Given the description of an element on the screen output the (x, y) to click on. 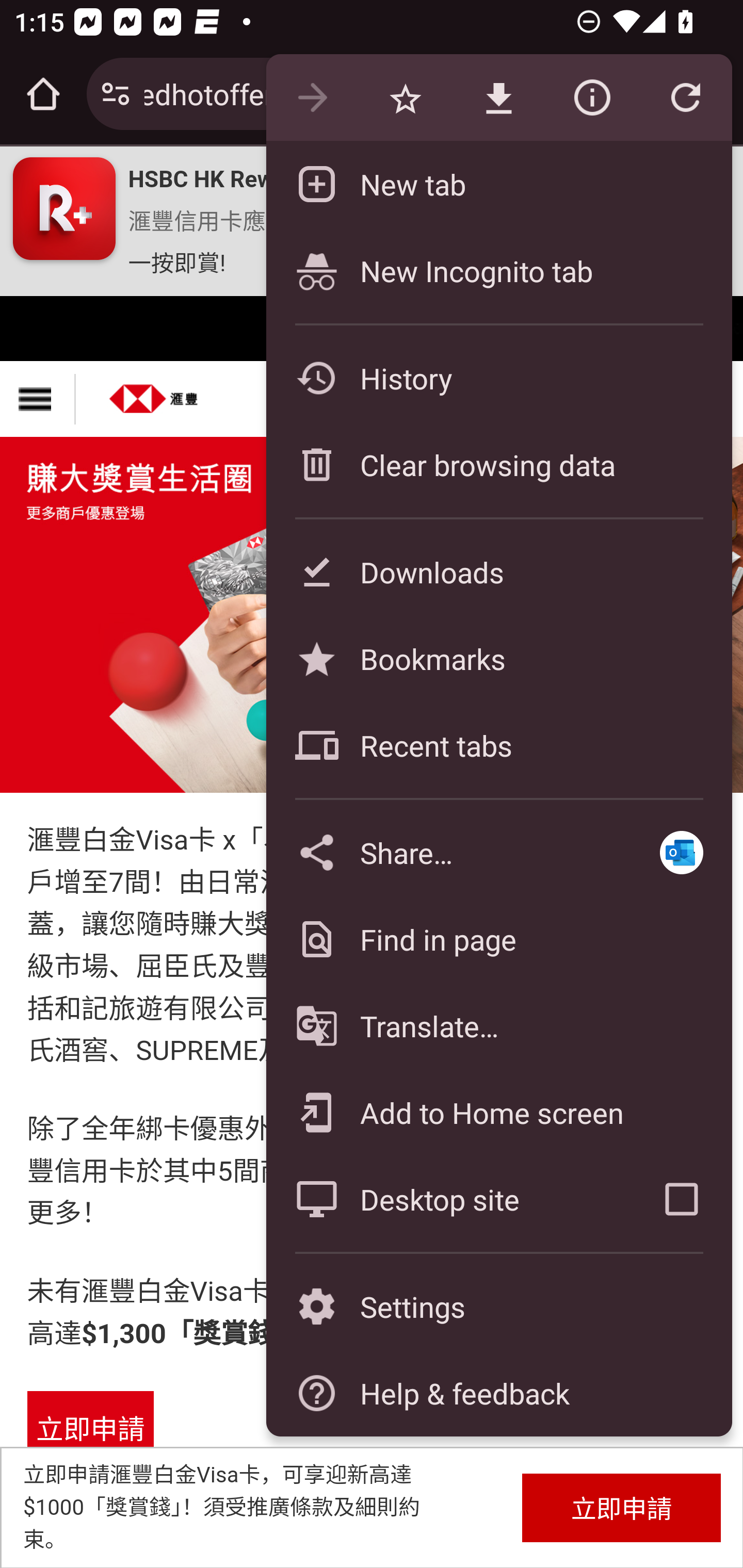
Forward (311, 97)
Bookmark (404, 97)
Download (498, 97)
Page info (591, 97)
Refresh (684, 97)
New tab (498, 184)
New Incognito tab (498, 270)
History (498, 377)
Clear browsing data (498, 464)
Downloads (498, 571)
Bookmarks (498, 658)
Recent tabs (498, 745)
Share… (447, 852)
Share via Outlook (680, 852)
Find in page (498, 939)
Translate… (498, 1026)
Add to Home screen (498, 1112)
Desktop site Turn on Request desktop site (447, 1198)
Settings (498, 1306)
Help & feedback (498, 1393)
